Given the description of an element on the screen output the (x, y) to click on. 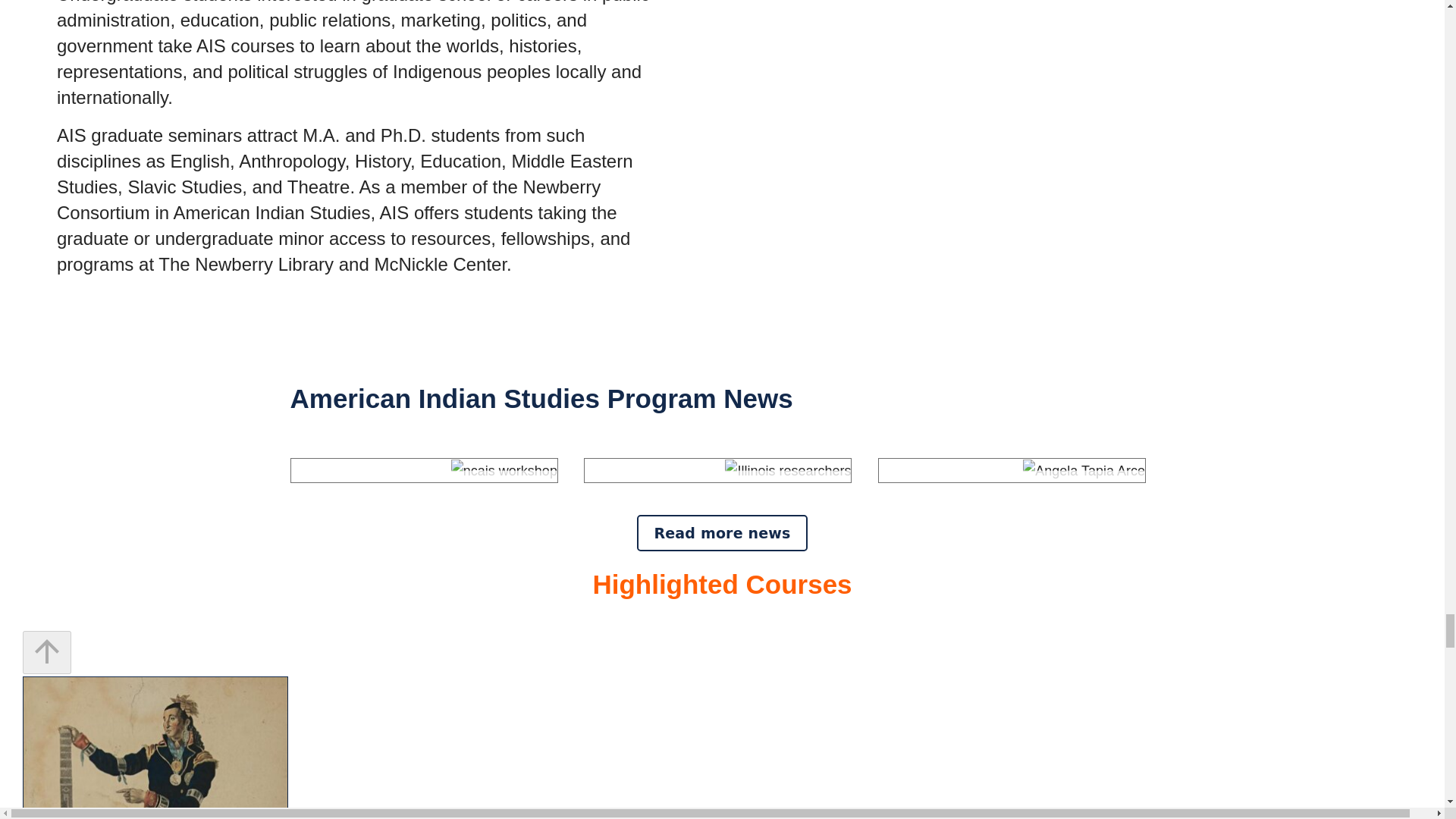
Read article: (434, 490)
Read article: (728, 490)
